Given the description of an element on the screen output the (x, y) to click on. 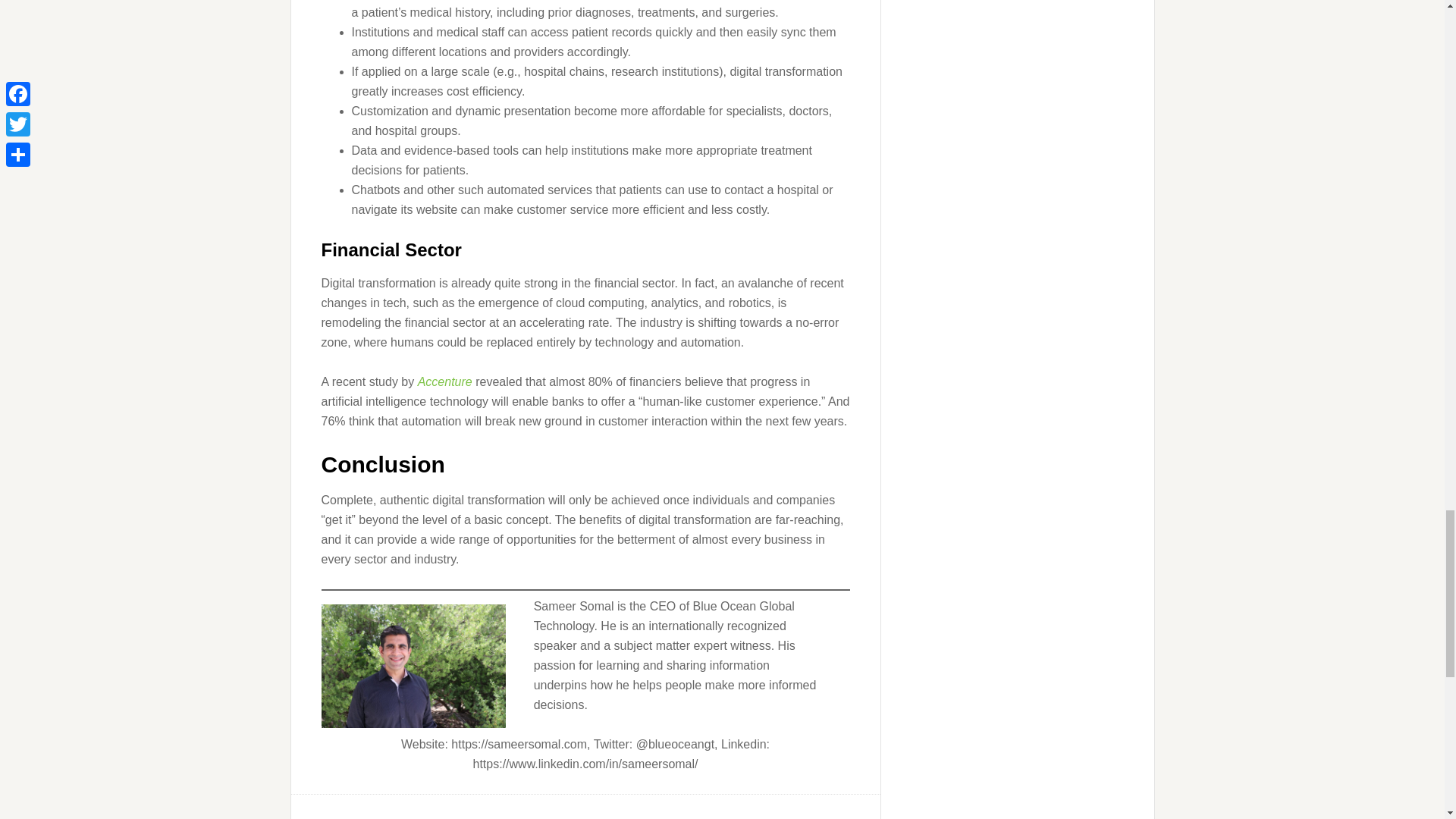
Accenture (444, 381)
